Given the description of an element on the screen output the (x, y) to click on. 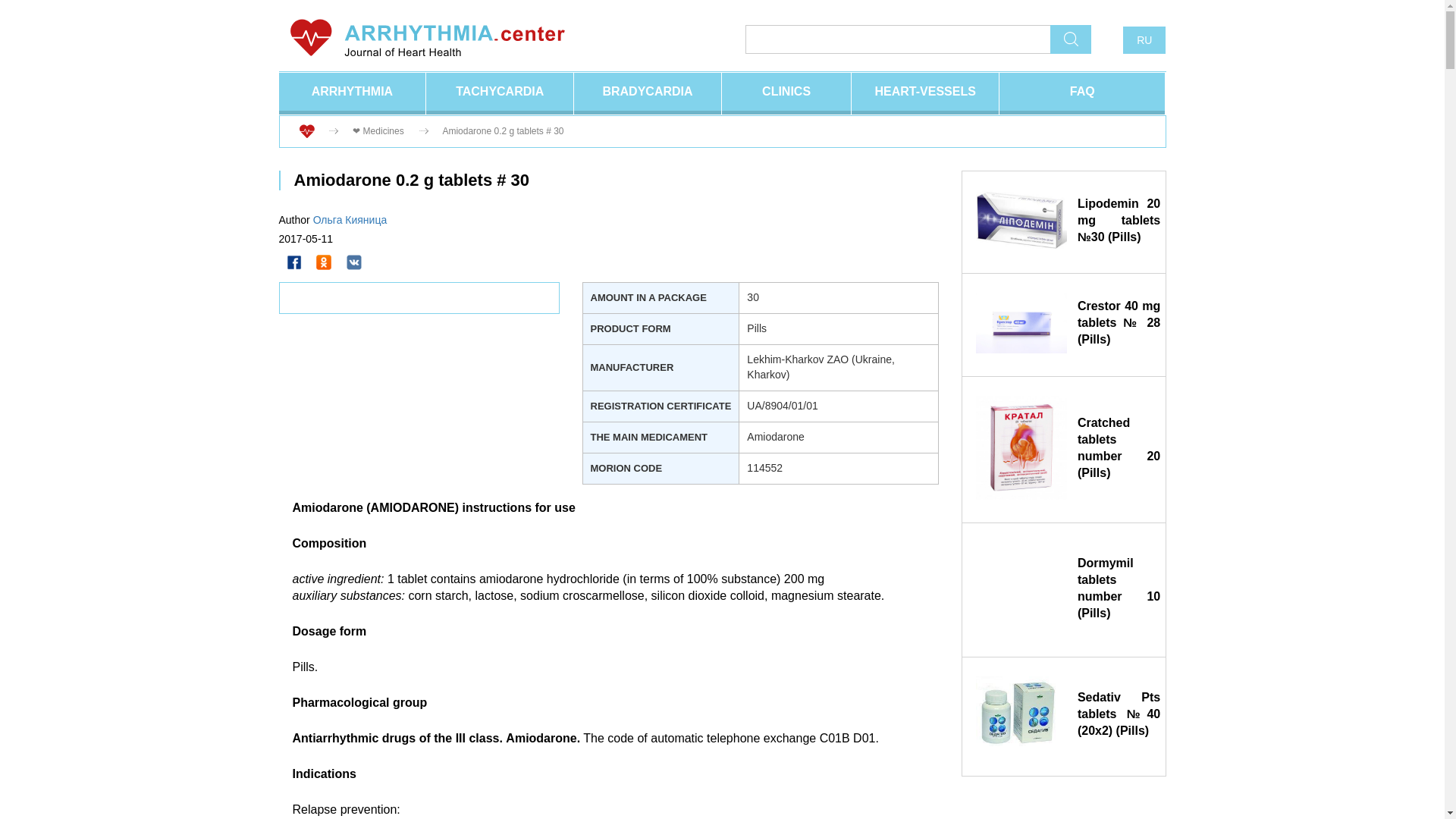
TACHYCARDIA (499, 93)
HEART-VESSELS (924, 93)
BRADYCARDIA (646, 93)
RU (1144, 39)
CLINICS (786, 93)
ARRHYTHMIA (352, 93)
FAQ (1081, 93)
